Given the description of an element on the screen output the (x, y) to click on. 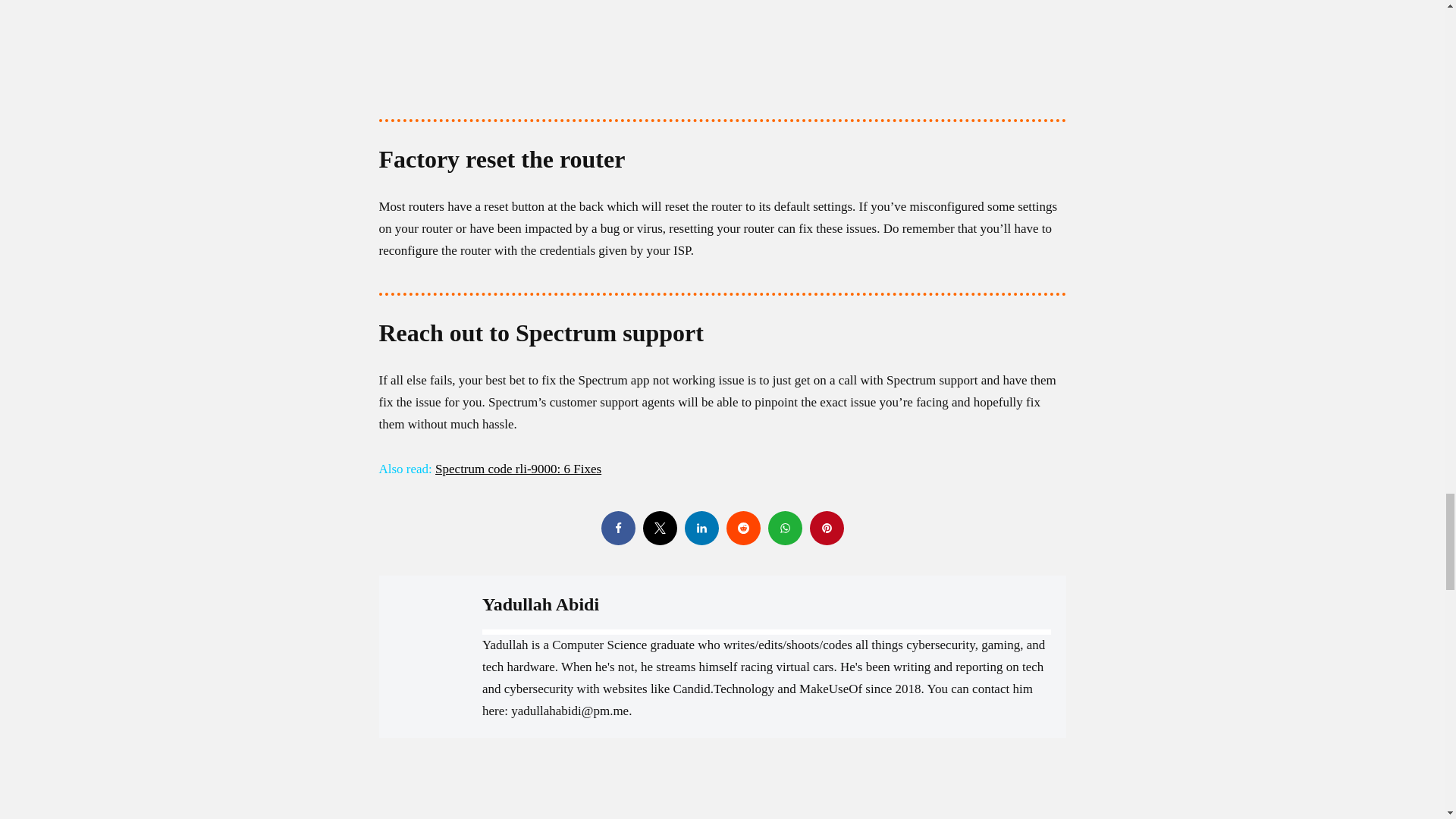
Linkedin (700, 528)
Facebook (616, 528)
Twitter (660, 528)
